Given the description of an element on the screen output the (x, y) to click on. 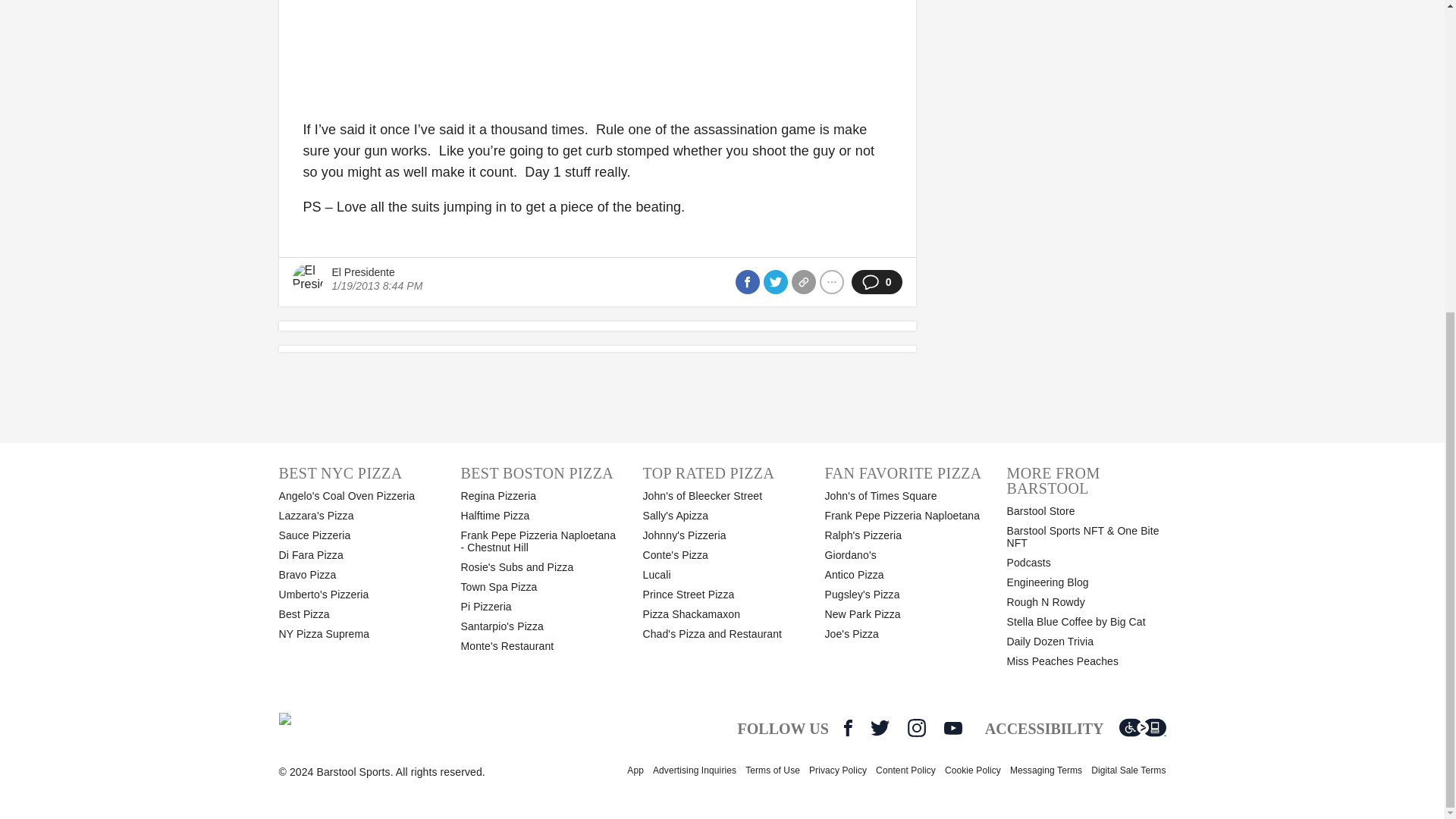
Facebook Icon (847, 728)
Instagram Icon (916, 728)
Twitter Icon (879, 728)
YouTube Icon (952, 728)
Level Access website accessibility icon (1142, 727)
